Given the description of an element on the screen output the (x, y) to click on. 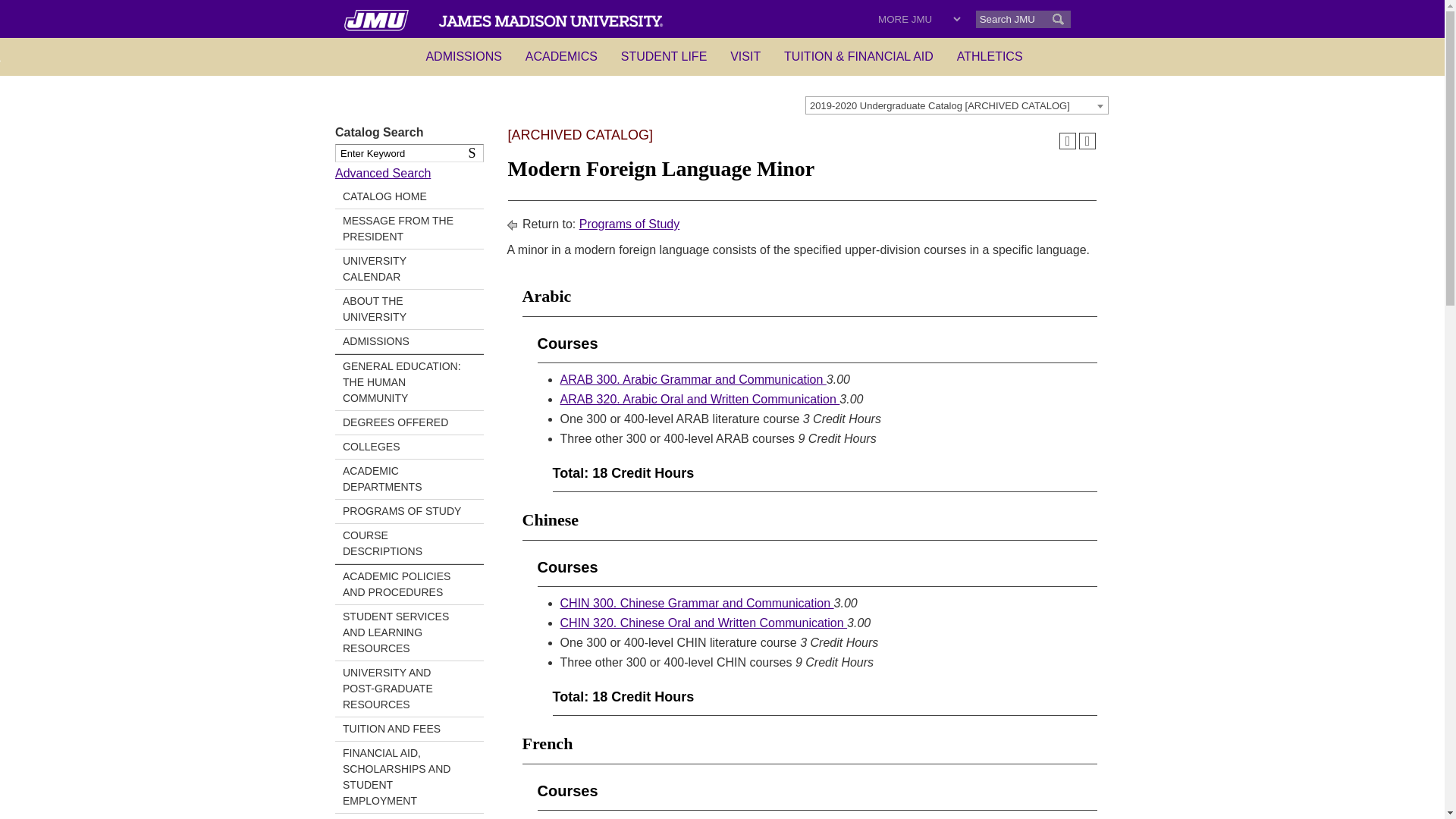
STUDENT LIFE (663, 54)
ATHLETICS (989, 54)
Select a Catalog (956, 105)
ACADEMICS (561, 54)
ADMISSIONS (463, 54)
Enter Keyword   (408, 153)
VISIT (745, 54)
Search Keyword Field, required (408, 153)
search (1057, 18)
Search (475, 152)
